Given the description of an element on the screen output the (x, y) to click on. 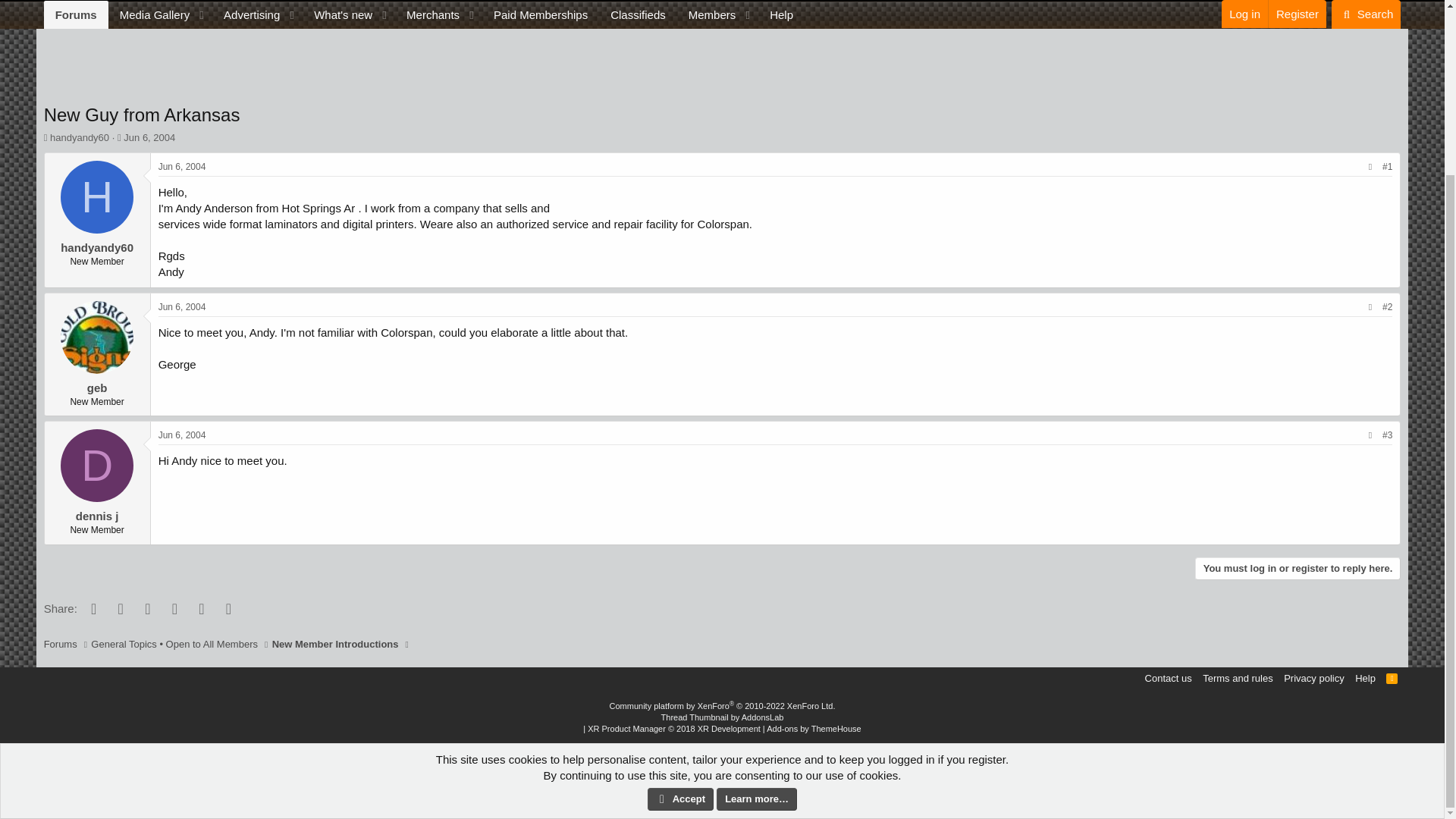
Jun 6, 2004 at 2:21 PM (182, 166)
Jun 6, 2004 at 4:13 PM (182, 307)
RSS (1391, 677)
Jun 6, 2004 at 8:42 PM (182, 434)
Jun 6, 2004 at 2:21 PM (148, 137)
